Given the description of an element on the screen output the (x, y) to click on. 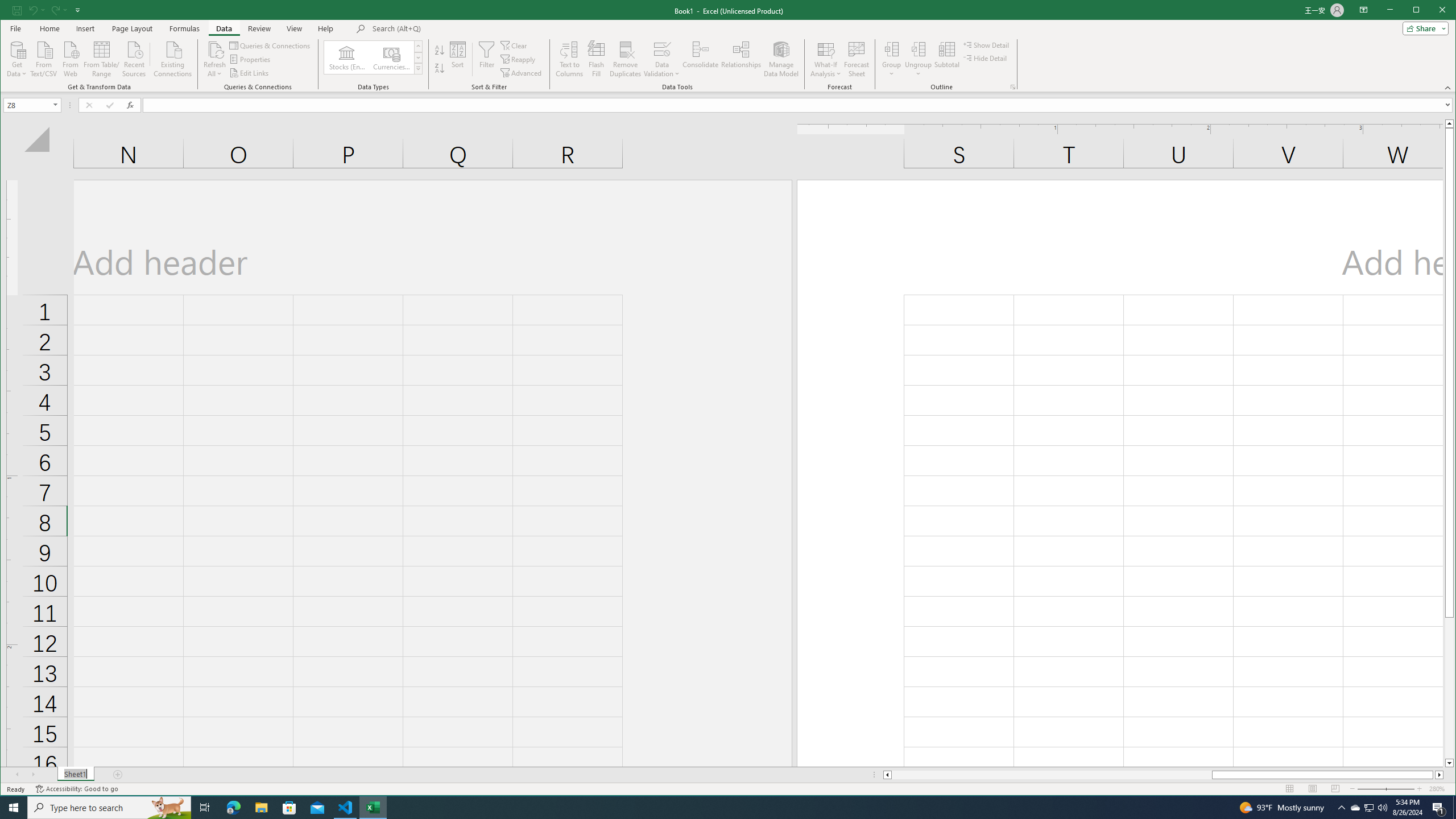
File Explorer (261, 807)
Forecast Sheet (856, 59)
What-If Analysis (826, 59)
Close (1444, 11)
Ungroup... (918, 59)
Advanced... (522, 72)
Task View (204, 807)
Group... (891, 59)
Consolidate... (700, 59)
Show desktop (1454, 807)
Formula Bar (799, 104)
Running applications (717, 807)
Queries & Connections (270, 45)
